Given the description of an element on the screen output the (x, y) to click on. 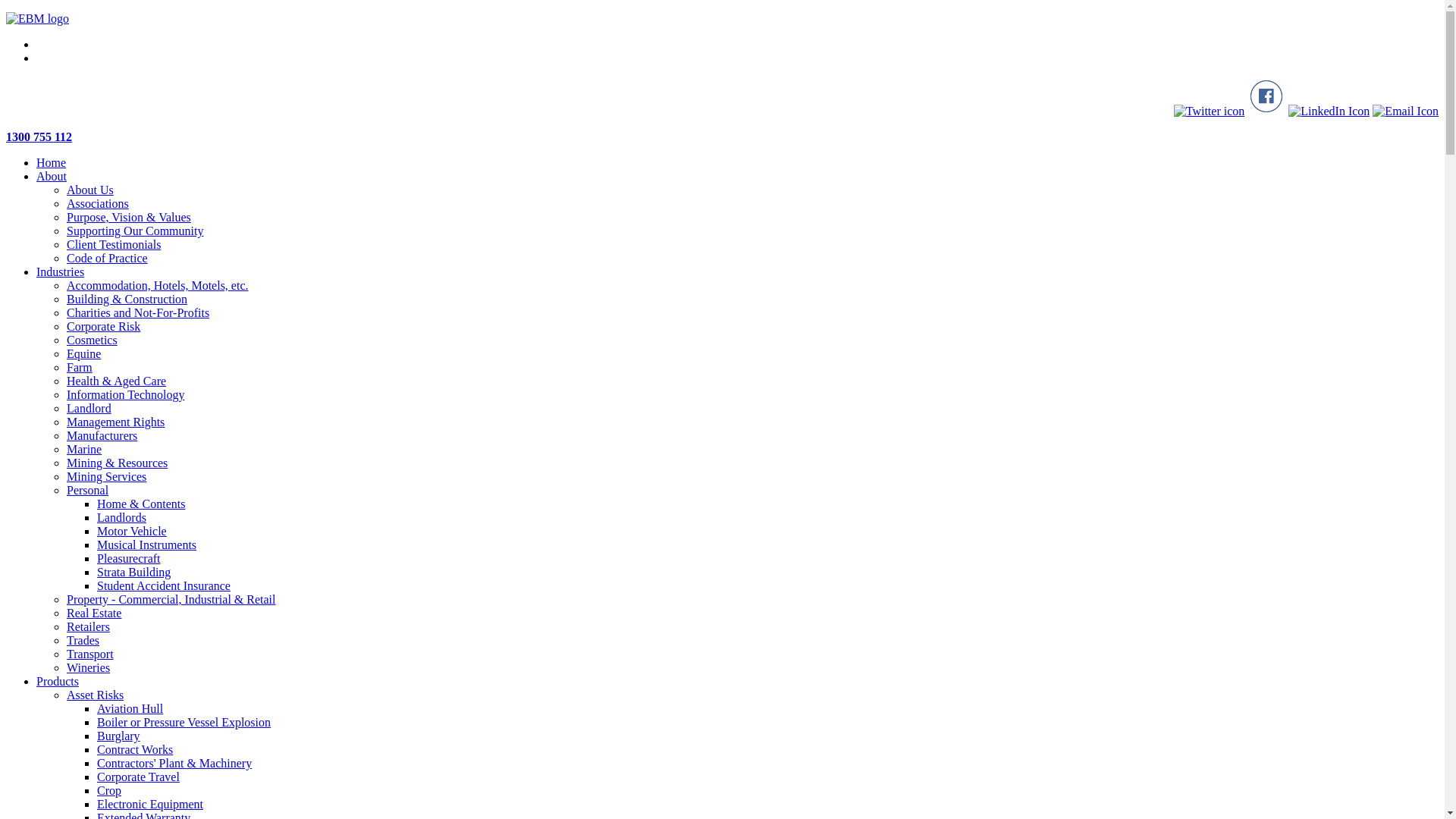
Real Estate Element type: text (93, 612)
Crop Element type: text (109, 790)
Purpose, Vision & Values Element type: text (128, 216)
Client Testimonials Element type: text (113, 244)
Cosmetics Element type: text (91, 339)
Twitter Element type: hover (1209, 111)
Linkedin Element type: hover (1328, 110)
Equine Element type: text (83, 353)
Strata Building Element type: text (133, 571)
Mining Services Element type: text (106, 476)
Facebook Element type: hover (1266, 110)
Retailers Element type: text (87, 626)
Burglary Element type: text (118, 735)
Information Technology Element type: text (125, 394)
Twitter Element type: hover (1209, 110)
Electronic Equipment Element type: text (150, 803)
Trades Element type: text (82, 639)
Landlord Element type: text (88, 407)
Code of Practice Element type: text (106, 257)
Products Element type: text (57, 680)
About Us Element type: text (89, 189)
Manufacturers Element type: text (101, 435)
Asset Risks Element type: text (94, 694)
Contract Works Element type: text (134, 749)
Musical Instruments Element type: text (146, 544)
Transport Element type: text (89, 653)
Aviation Hull Element type: text (130, 708)
Supporting Our Community Element type: text (134, 230)
Landlords Element type: text (121, 517)
Building & Construction Element type: text (126, 298)
Health & Aged Care Element type: text (116, 380)
Boiler or Pressure Vessel Explosion Element type: text (183, 721)
Associations Element type: text (97, 203)
Mining & Resources Element type: text (116, 462)
Management Rights Element type: text (115, 421)
Pleasurecraft Element type: text (128, 558)
Property - Commercial, Industrial & Retail Element type: text (171, 599)
Home & Contents Element type: text (141, 503)
Contractors' Plant & Machinery Element type: text (174, 762)
1300 755 112 Element type: text (722, 137)
Corporate Travel Element type: text (138, 776)
Farm Element type: text (79, 366)
Wineries Element type: text (87, 667)
Subscribe  Element type: hover (1405, 110)
Industries Element type: text (60, 271)
About Element type: text (51, 175)
Accommodation, Hotels, Motels, etc. Element type: text (157, 285)
Home Element type: text (50, 162)
Marine Element type: text (83, 448)
Charities and Not-For-Profits Element type: text (137, 312)
Student Accident Insurance Element type: text (163, 585)
Motor Vehicle Element type: text (131, 530)
Corporate Risk Element type: text (103, 326)
Personal Element type: text (87, 489)
